Given the description of an element on the screen output the (x, y) to click on. 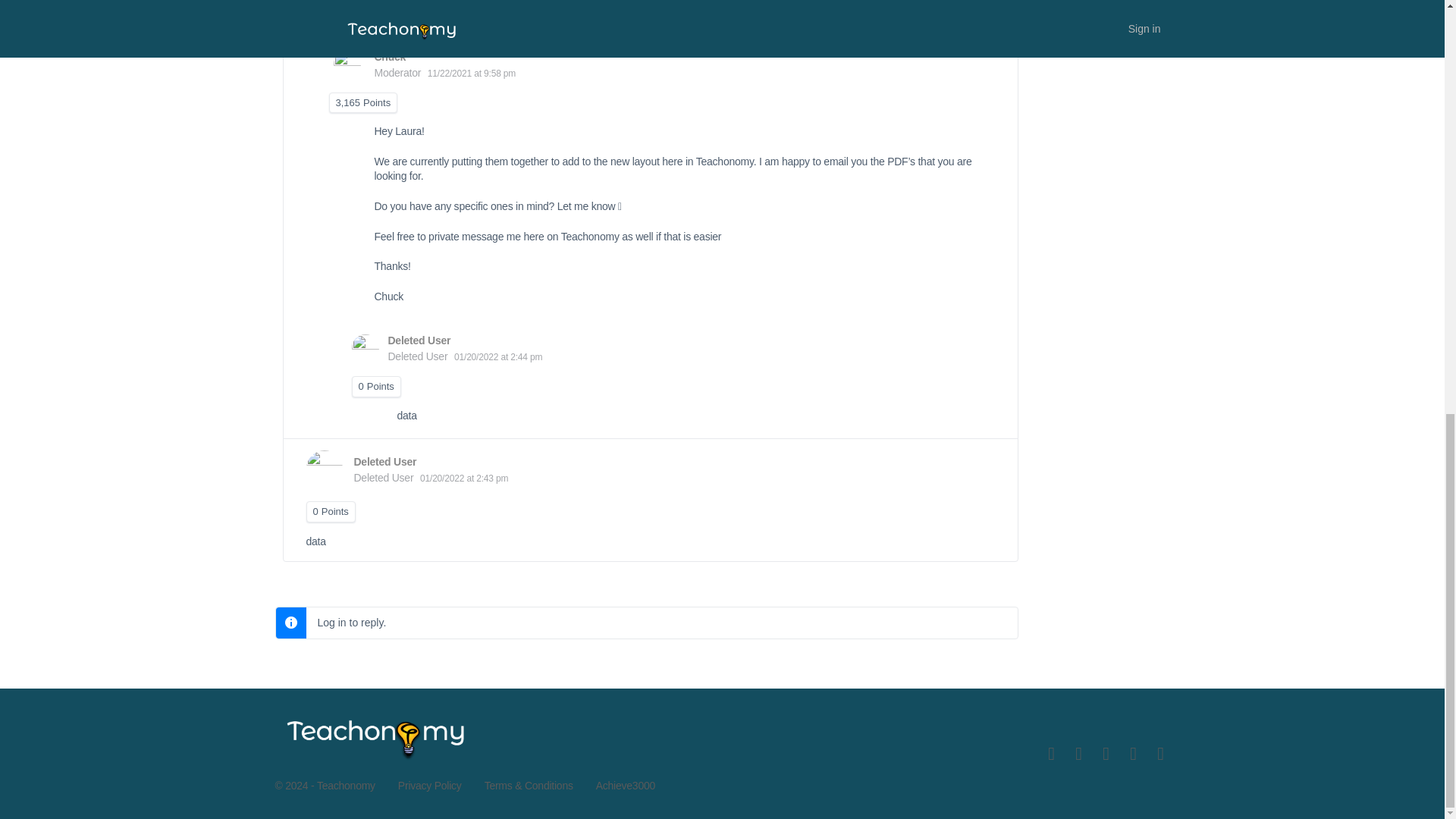
View Chuck's profile (390, 56)
Chuck (390, 56)
View Chuck's profile (347, 63)
